Given the description of an element on the screen output the (x, y) to click on. 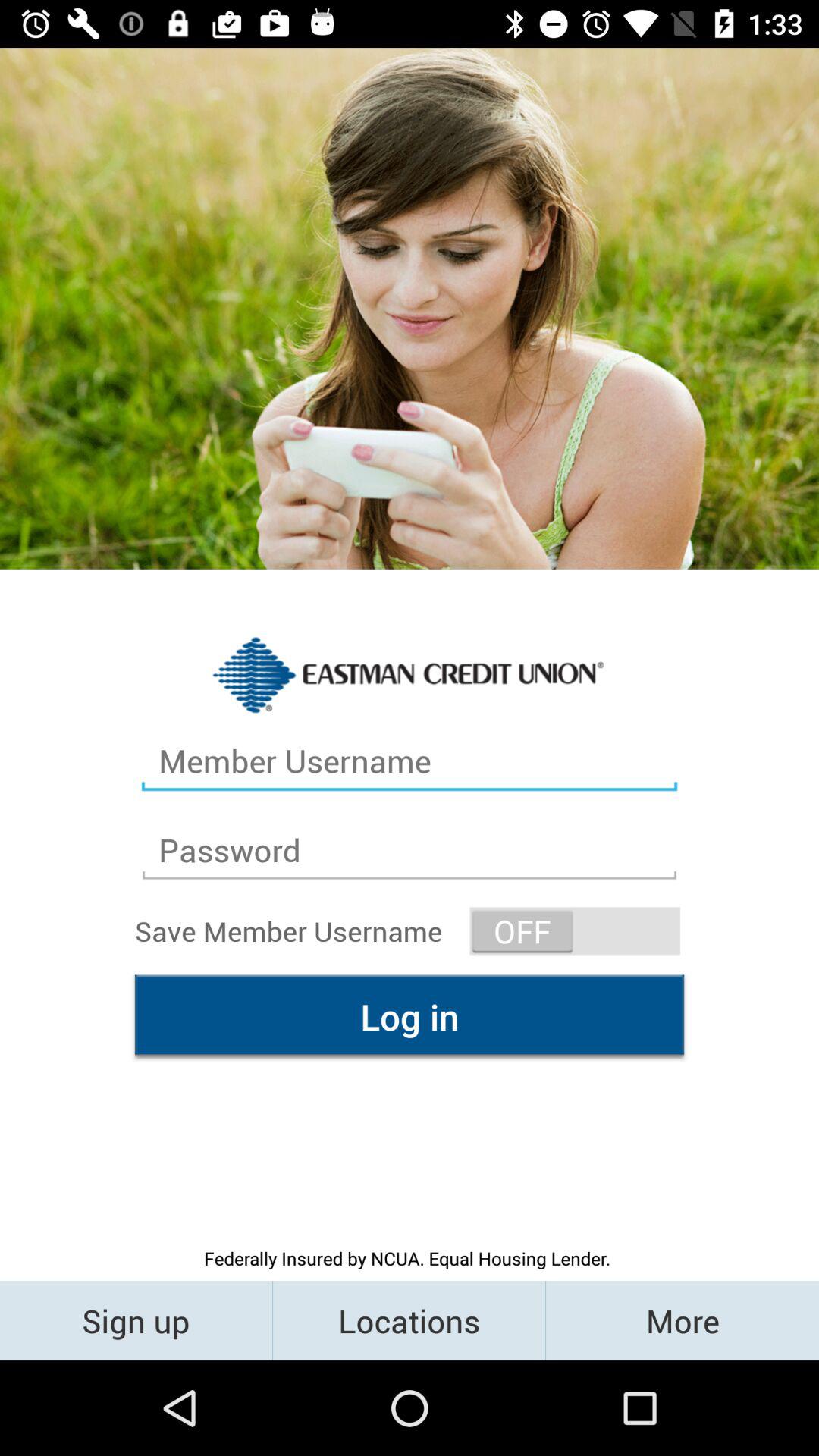
jump to locations (409, 1320)
